Given the description of an element on the screen output the (x, y) to click on. 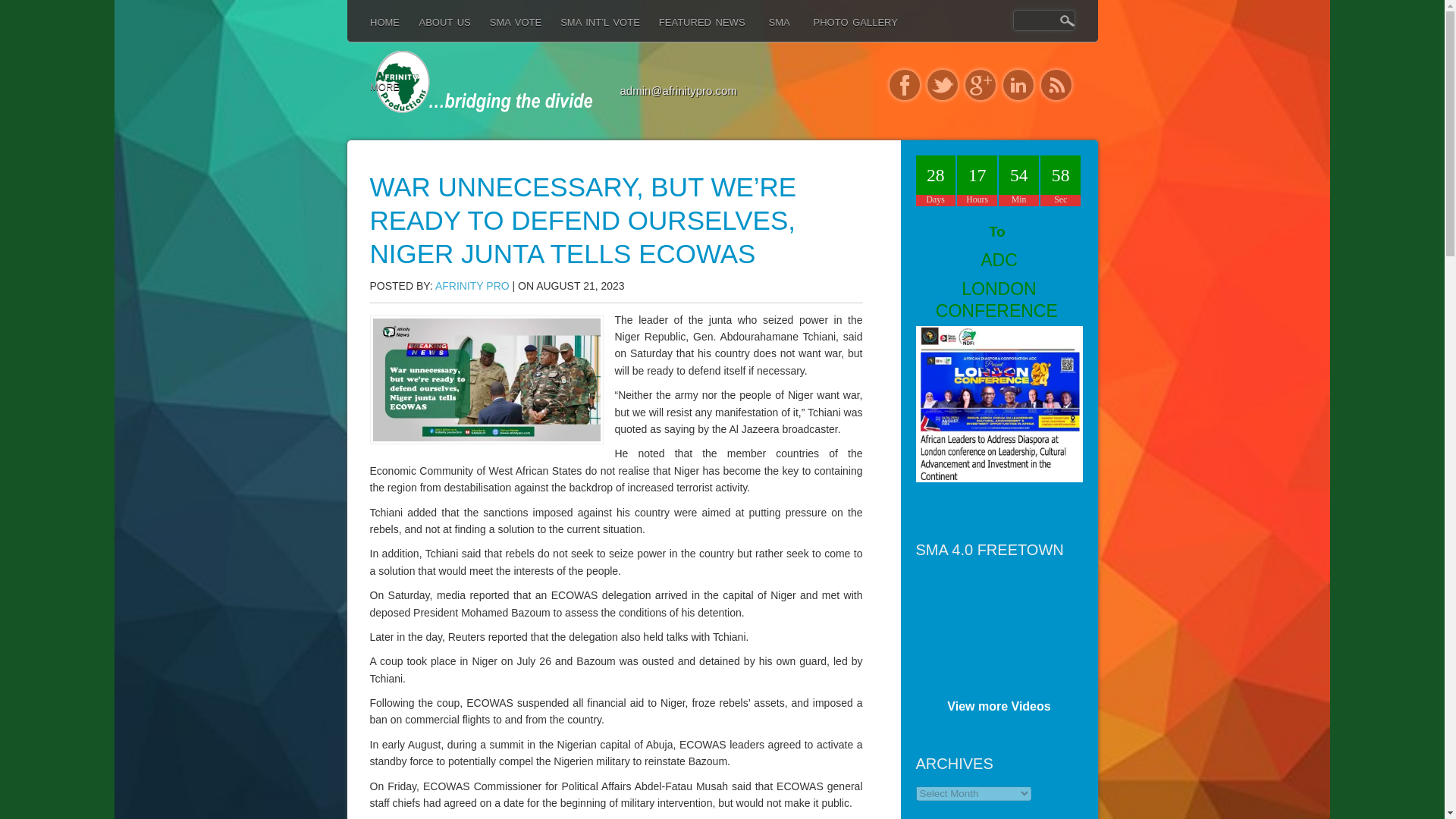
FEATURED NEWS (711, 35)
SMA VOTE (524, 35)
ABOUT US (454, 35)
YouTube video player (1028, 627)
Posts by Afrinity Pro (472, 285)
PHOTO GALLERY (865, 35)
